Given the description of an element on the screen output the (x, y) to click on. 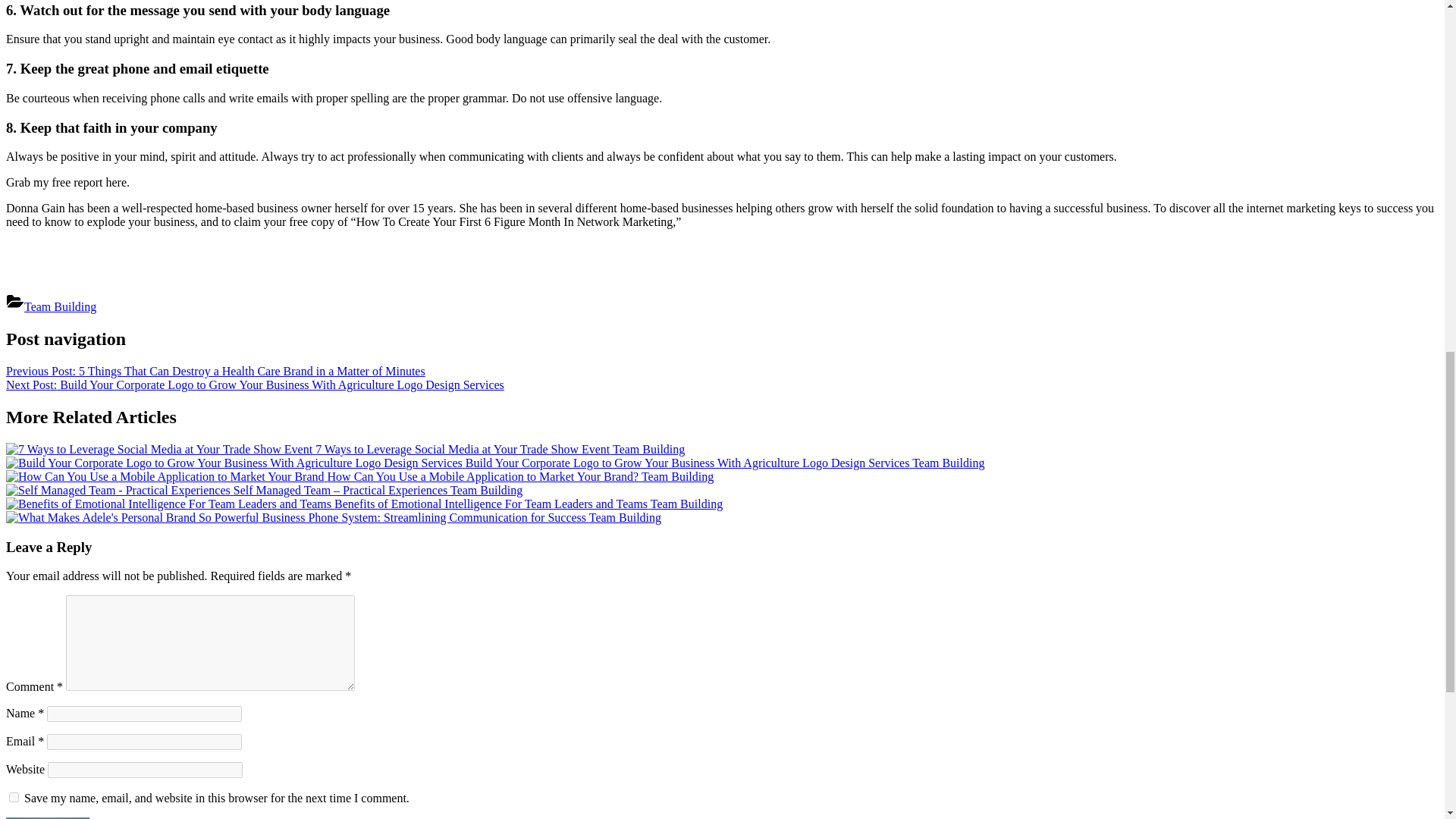
Team Building (60, 306)
Post Comment (46, 818)
Post Comment (46, 818)
yes (13, 797)
